Given the description of an element on the screen output the (x, y) to click on. 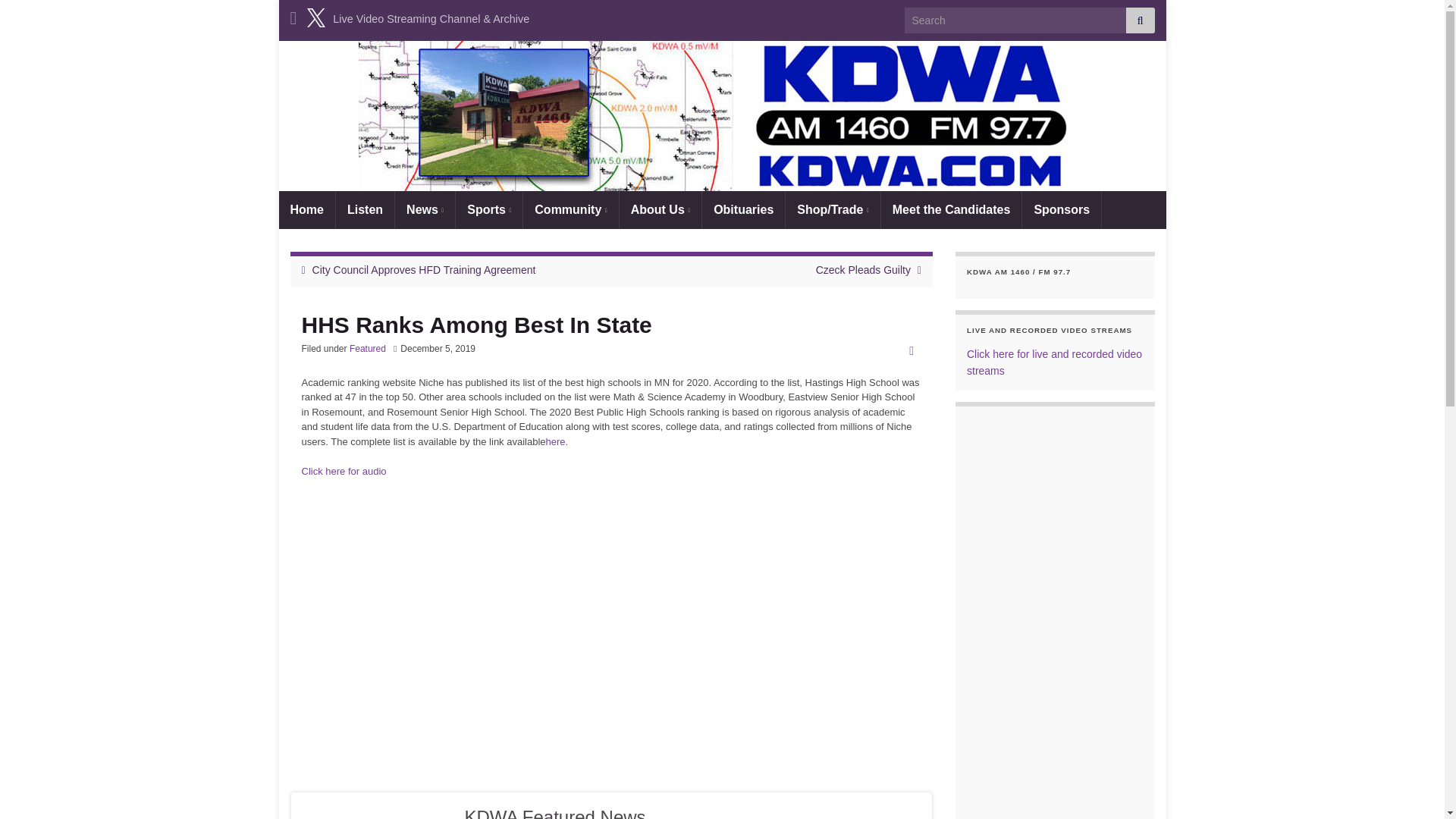
Czeck Pleads Guilty (863, 269)
Advertisement (611, 643)
About Us (660, 209)
Sponsors (1061, 209)
Visit KDWA on Twitter (315, 15)
Meet the Candidates (951, 209)
Community (569, 209)
Obituaries (742, 209)
KDWAWebsiteBanner-10-2020-1170x968 (722, 115)
News (424, 209)
Featured (367, 348)
Listen (365, 209)
City Council Approves HFD Training Agreement (424, 269)
2019-12-05T09:04:51-06:00 (438, 348)
Home (306, 209)
